Given the description of an element on the screen output the (x, y) to click on. 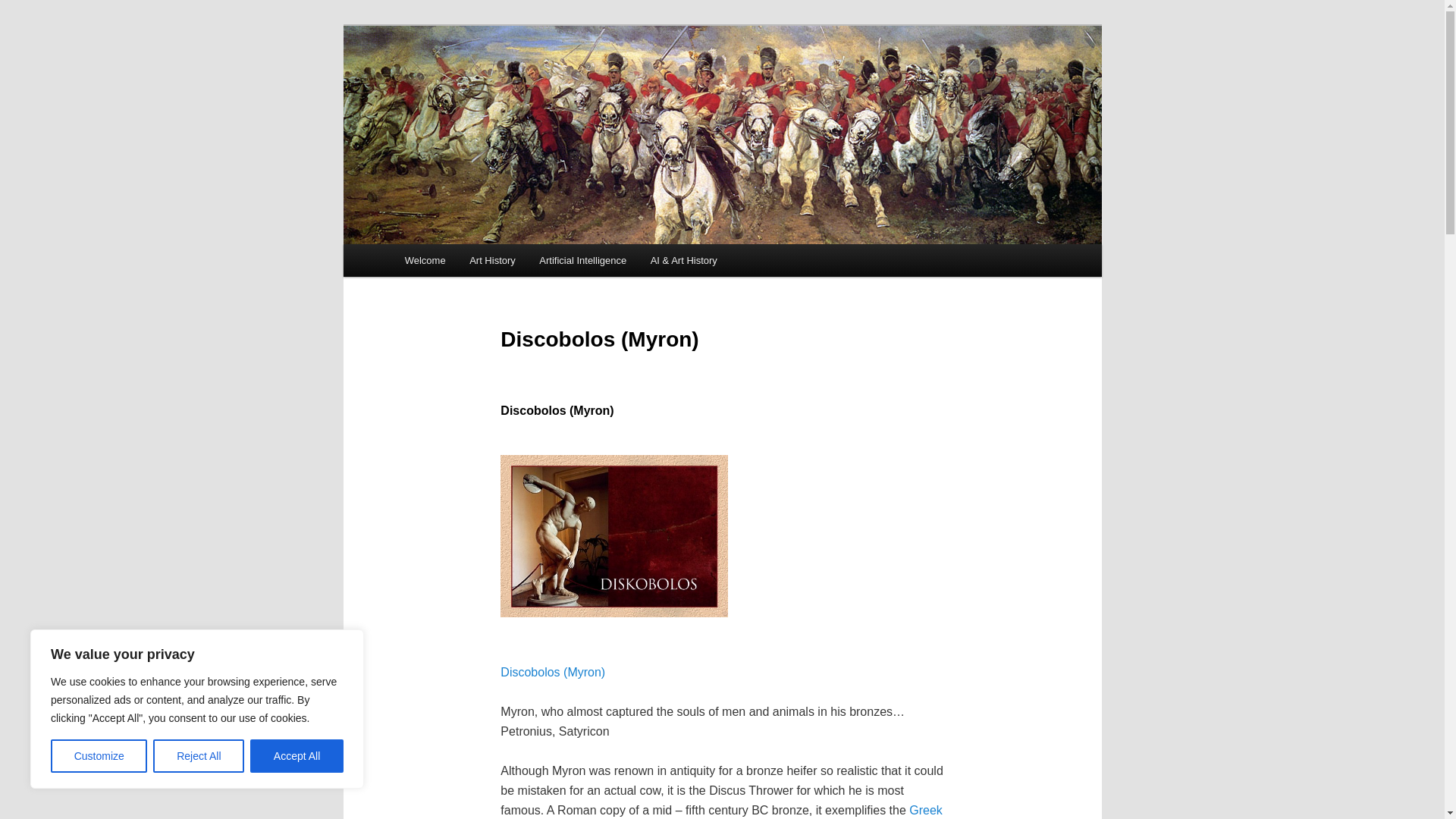
Customize (98, 756)
Art History (492, 260)
AI and Art History (496, 83)
Acropolis (925, 809)
Artificial Intelligence (583, 260)
Accept All (296, 756)
Greek (925, 809)
Welcome (425, 260)
Reject All (198, 756)
